Given the description of an element on the screen output the (x, y) to click on. 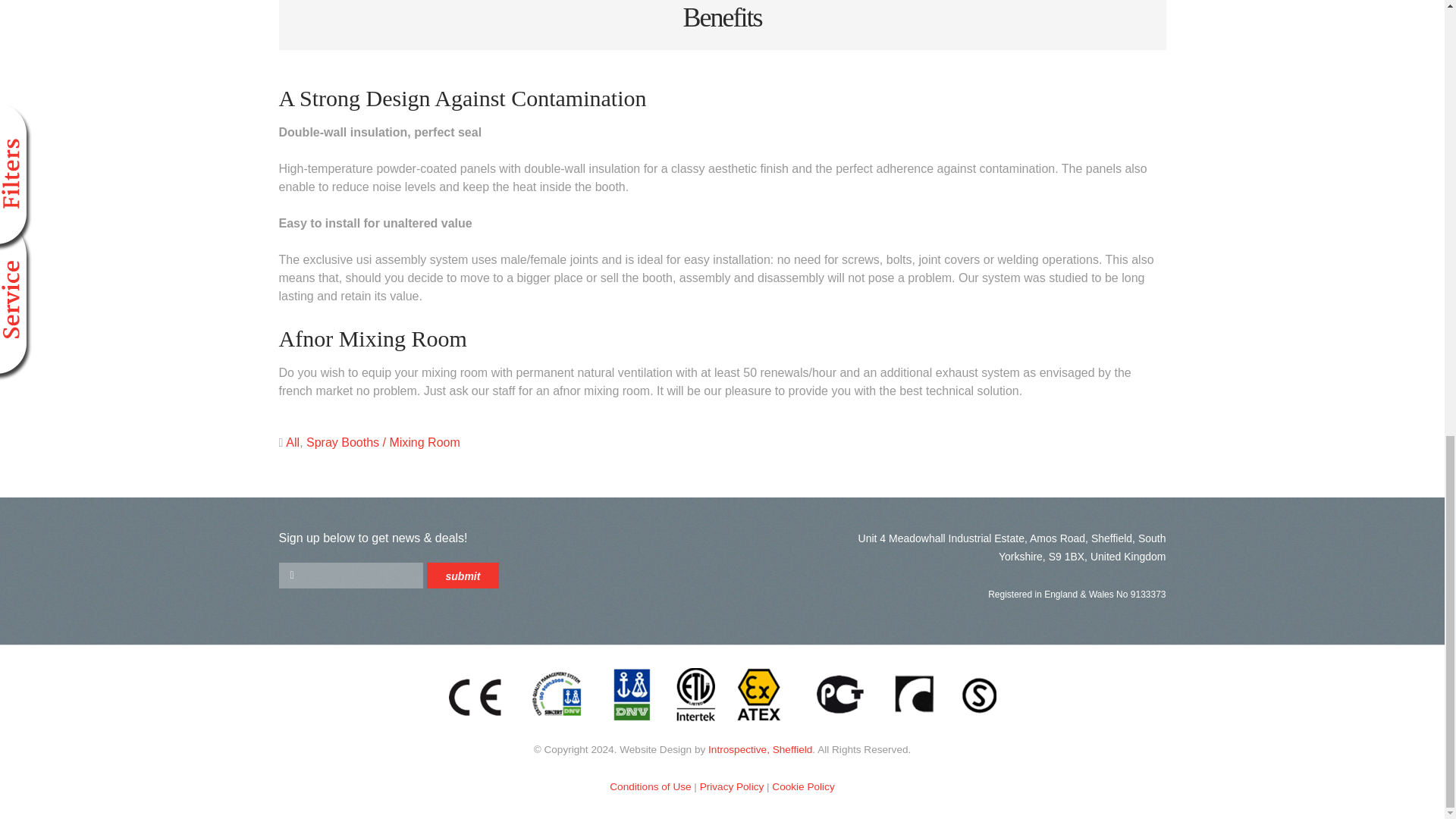
Cookie Policy (802, 786)
submit (462, 575)
Conditions of Use (650, 786)
submit (462, 575)
All (292, 441)
Introspective, Sheffield (759, 749)
Privacy Policy (732, 786)
